Given the description of an element on the screen output the (x, y) to click on. 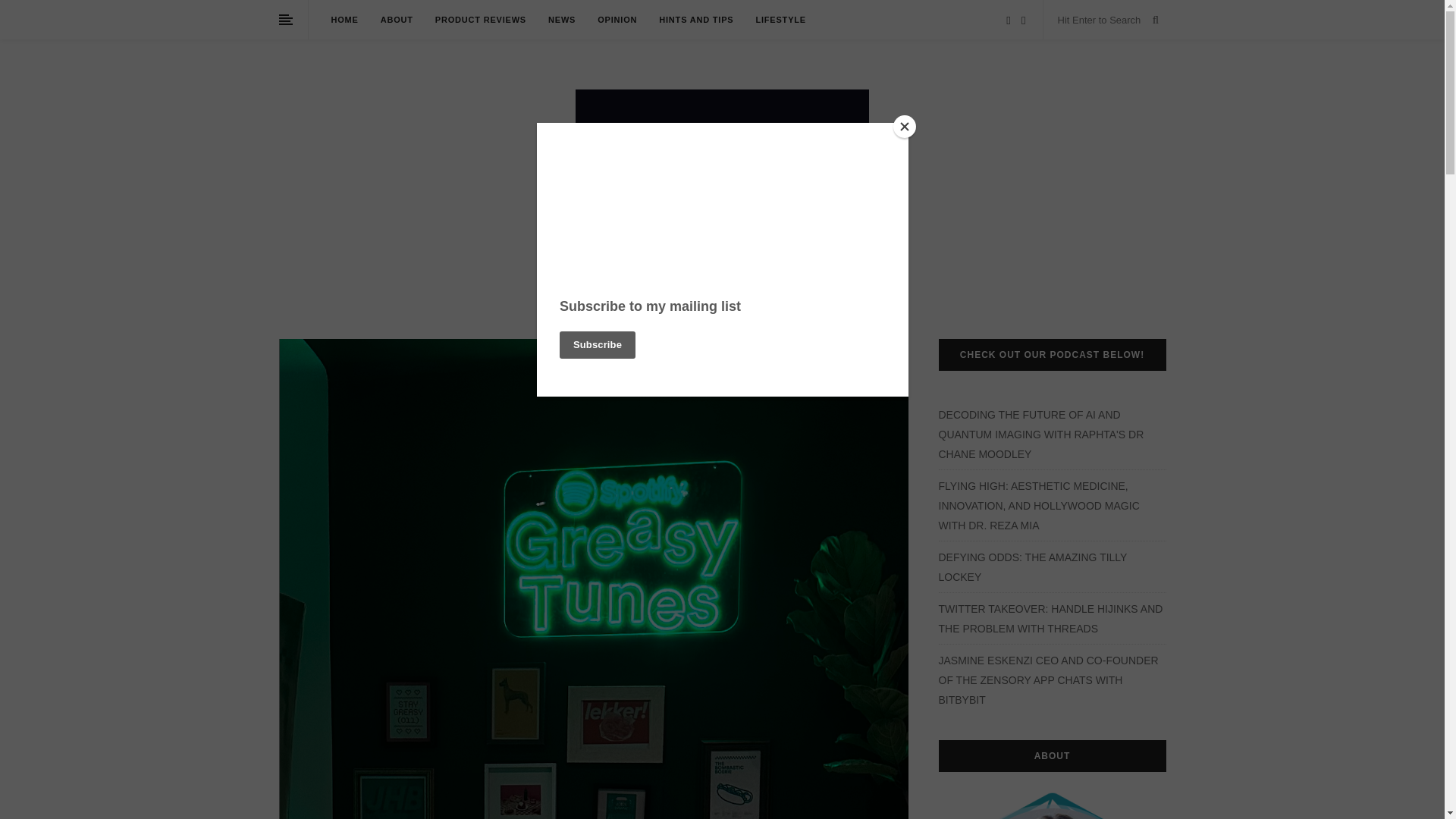
Hit Enter to Search (1101, 20)
ABOUT (396, 19)
PRODUCT REVIEWS (480, 19)
NEWS (561, 19)
HINTS AND TIPS (696, 19)
Hit Enter to Search (1101, 20)
HOME (344, 19)
OPINION (616, 19)
LIFESTYLE (780, 19)
